Given the description of an element on the screen output the (x, y) to click on. 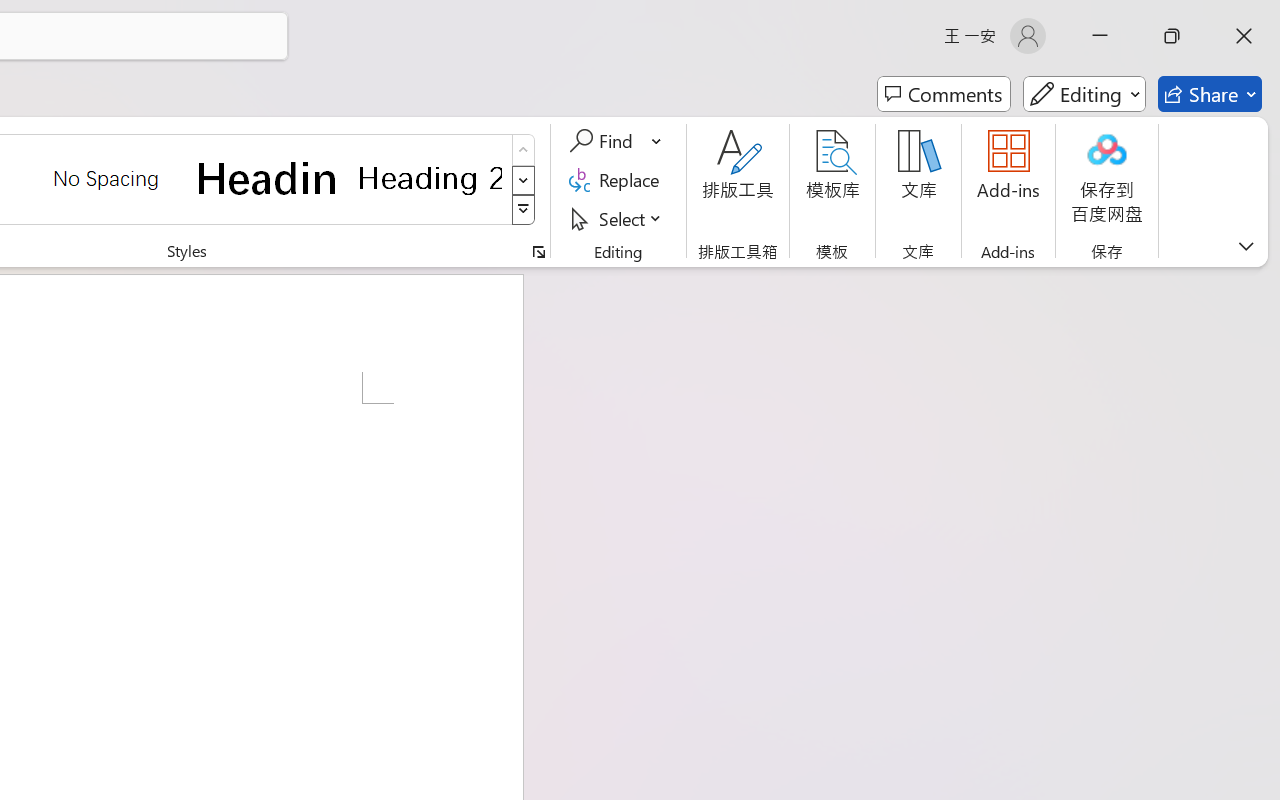
Styles... (538, 252)
